Given the description of an element on the screen output the (x, y) to click on. 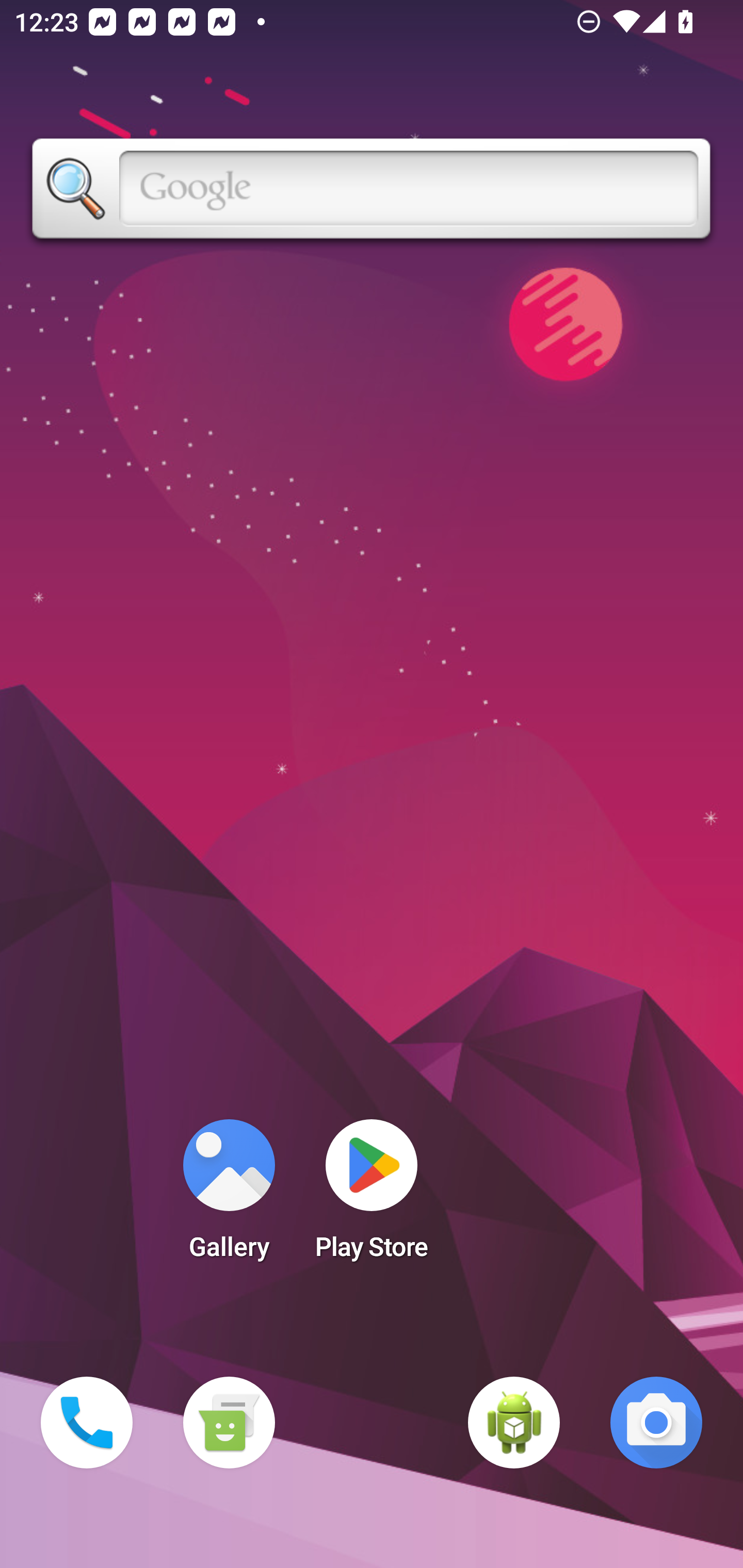
Gallery (228, 1195)
Play Store (371, 1195)
Phone (86, 1422)
Messaging (228, 1422)
WebView Browser Tester (513, 1422)
Camera (656, 1422)
